Given the description of an element on the screen output the (x, y) to click on. 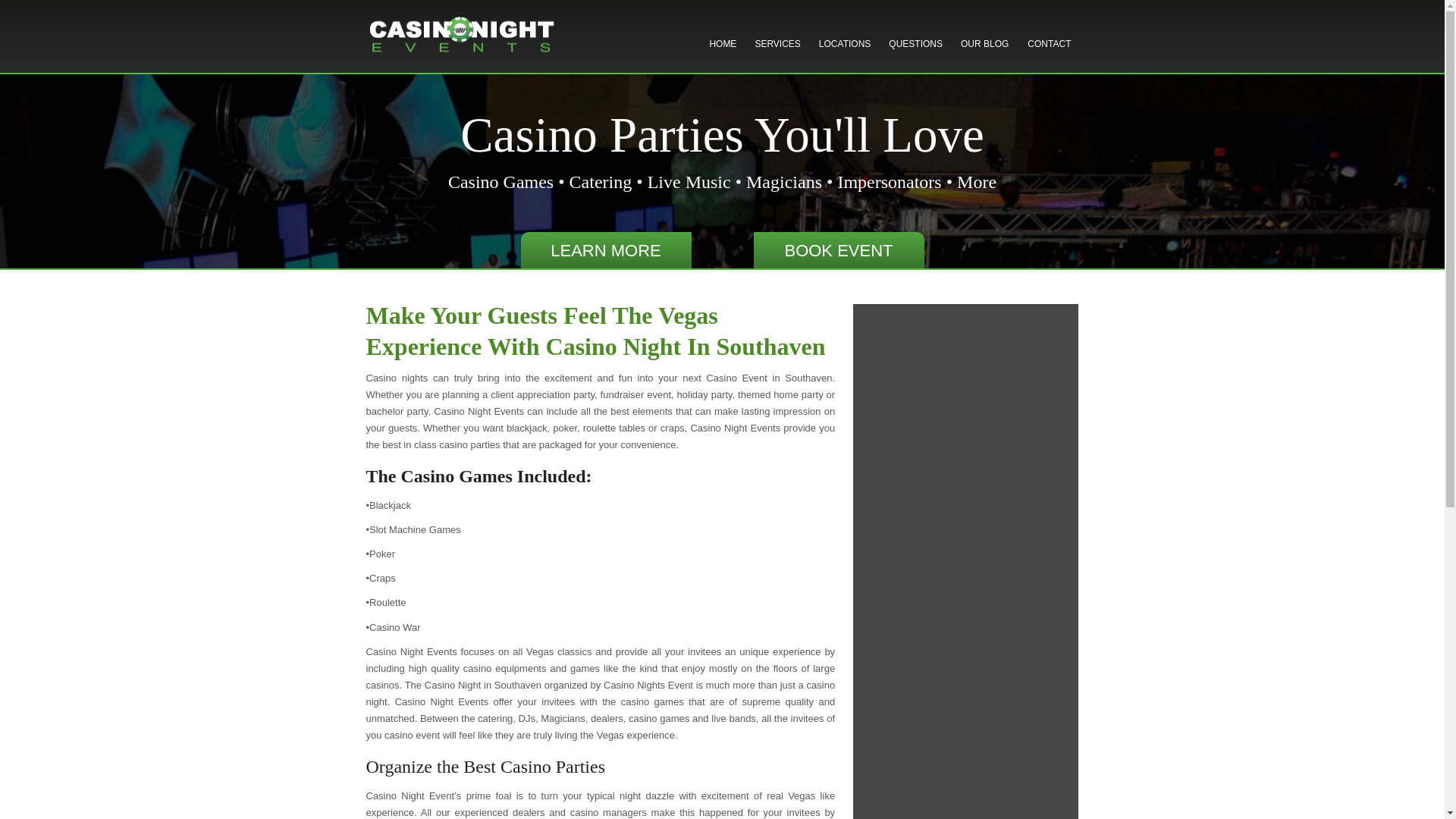
SCROLL DOWN (721, 250)
OUR BLOG (984, 45)
CONTACT (1049, 45)
Request Quote (1018, 9)
BOOK EVENT (839, 249)
QUESTIONS (915, 45)
Casino Night Events (461, 30)
SERVICES (777, 45)
LEARN MORE (604, 249)
LOCATIONS (843, 45)
